Given the description of an element on the screen output the (x, y) to click on. 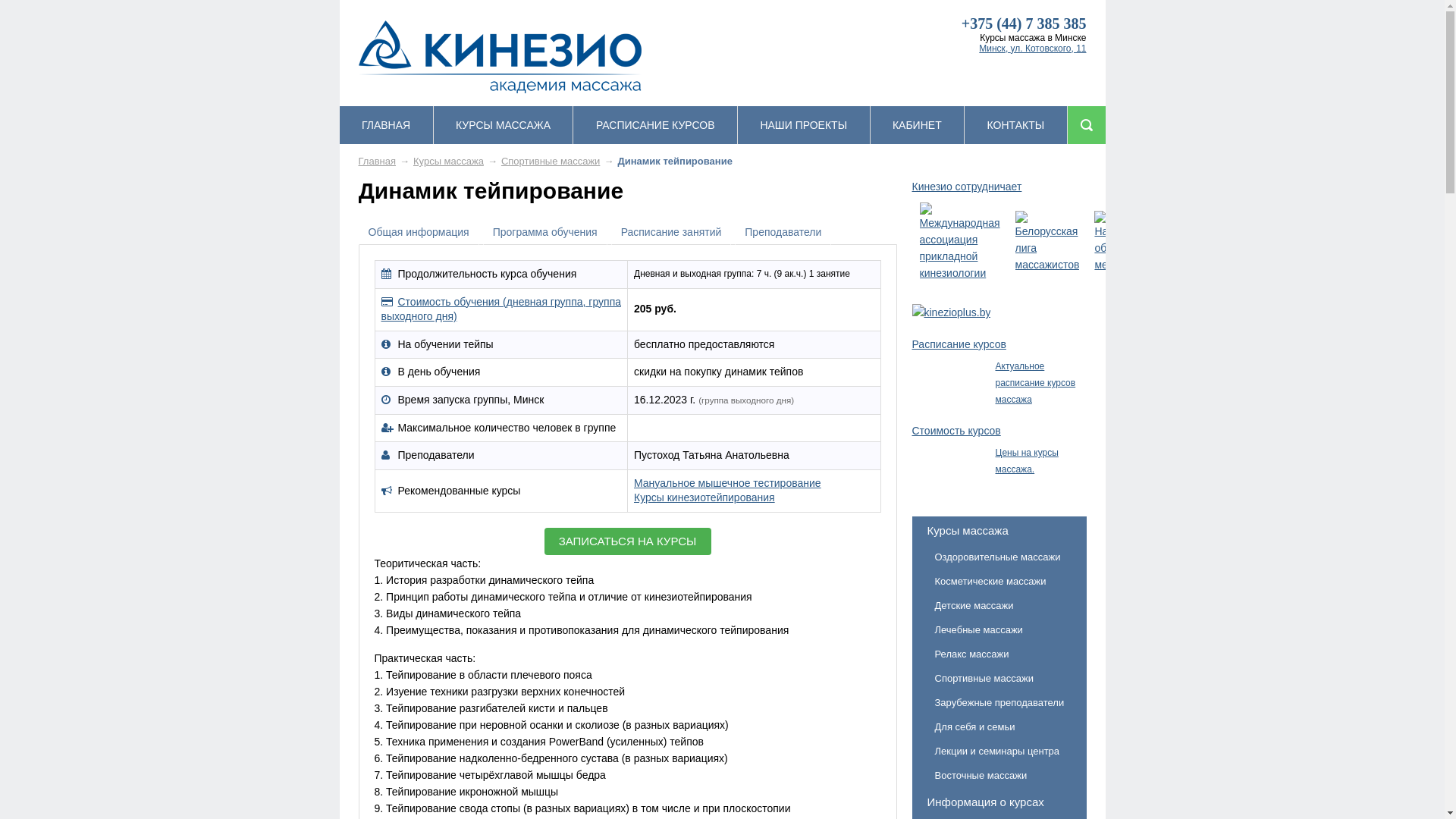
+375 (44) 7 385 385 Element type: text (1023, 23)
